Given the description of an element on the screen output the (x, y) to click on. 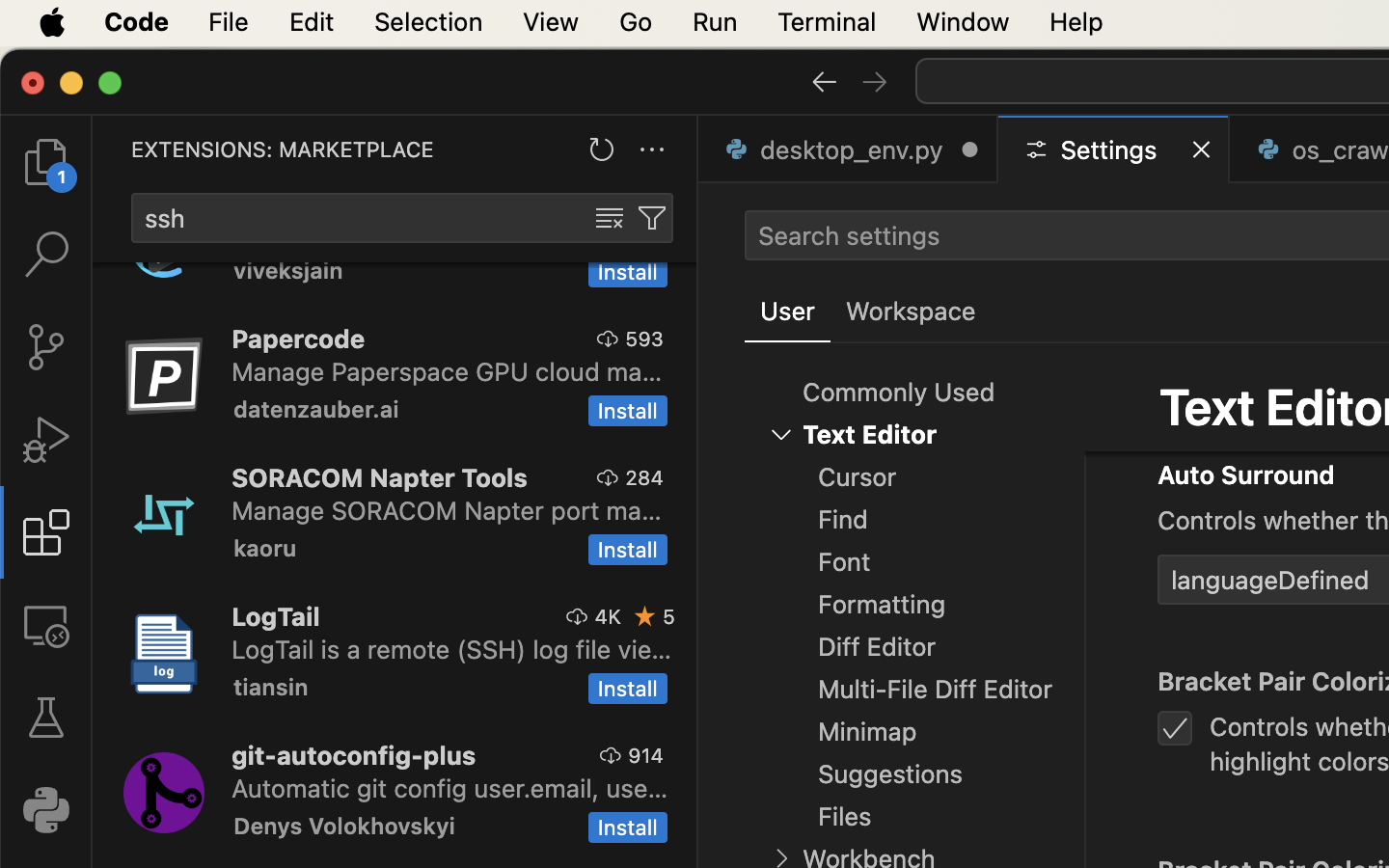
 Element type: AXStaticText (644, 615)
Suggestions Element type: AXStaticText (890, 773)
Manage Paperspace GPU cloud machines directly from VS Code. Open with just one click a remote VS Code session, streamlining your machine learning & data science process and increasing productivity. Element type: AXStaticText (447, 370)
Formatting Element type: AXStaticText (882, 604)
Commonly Used Element type: AXStaticText (898, 392)
